Given the description of an element on the screen output the (x, y) to click on. 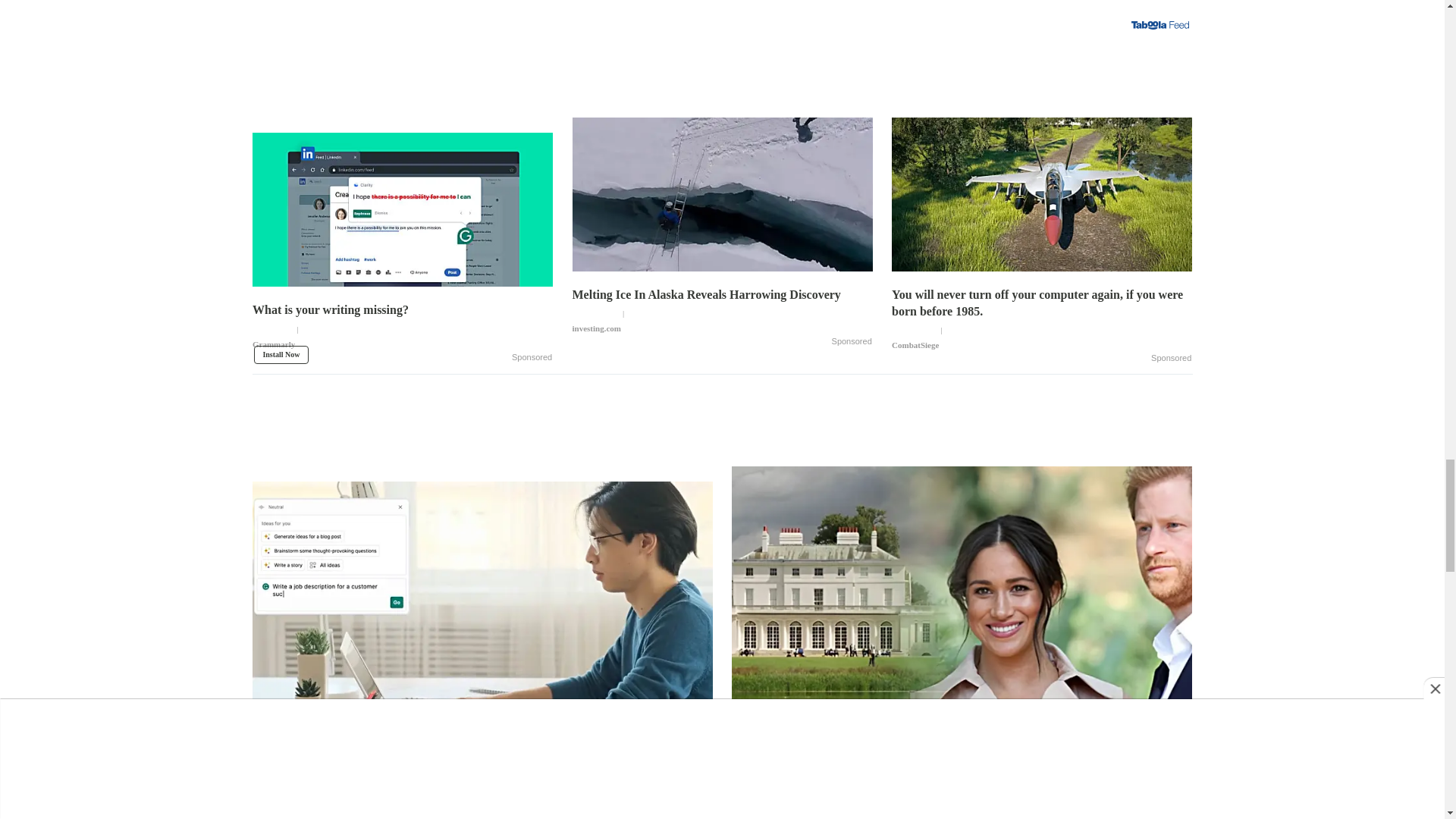
Melting Ice In Alaska Reveals Harrowing Discovery (722, 311)
What is your writing missing? (402, 331)
Melting Ice In Alaska Reveals Harrowing Discovery (722, 186)
What is your writing missing? (402, 201)
